Given the description of an element on the screen output the (x, y) to click on. 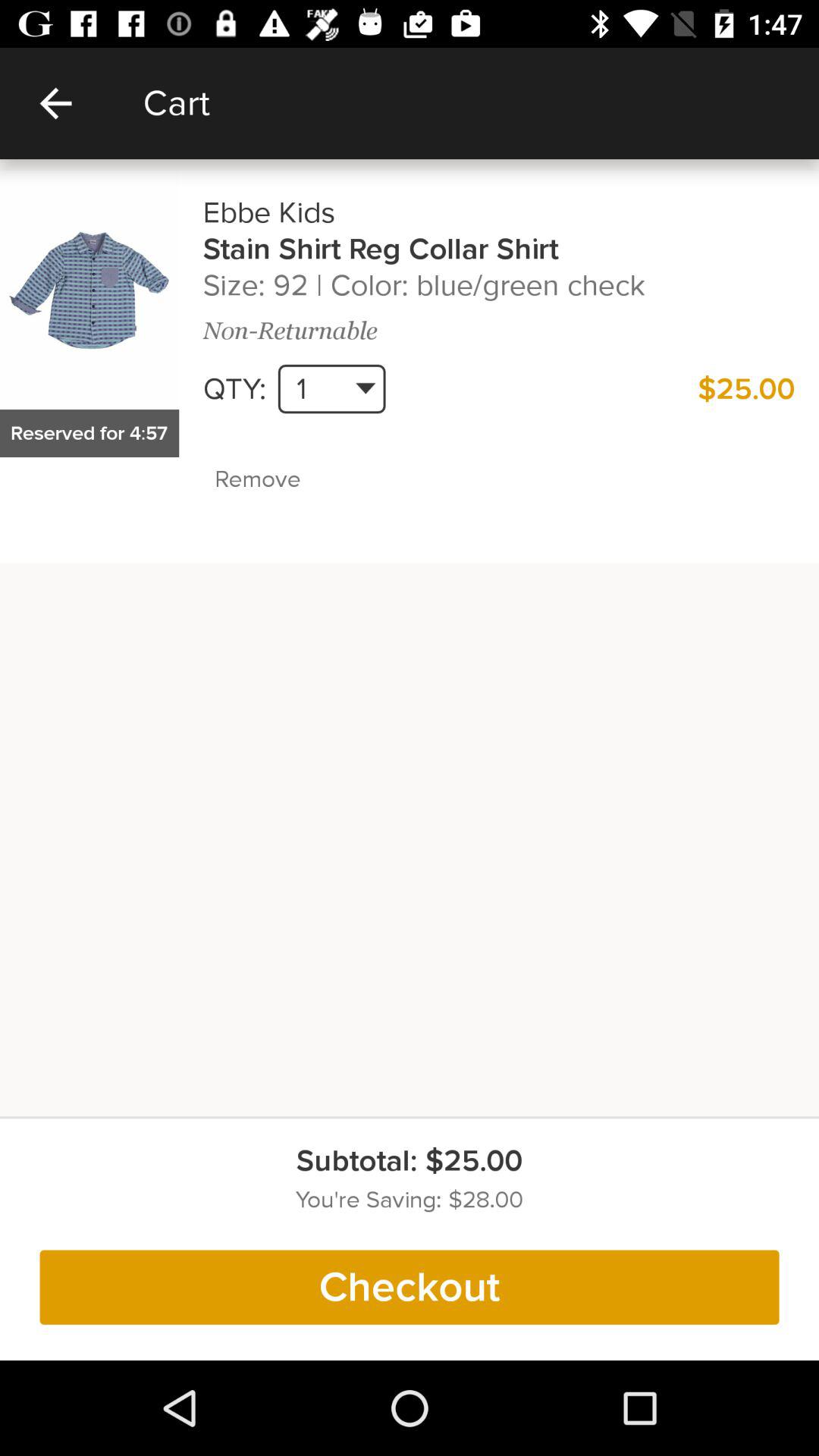
press item below 1 (290, 479)
